Given the description of an element on the screen output the (x, y) to click on. 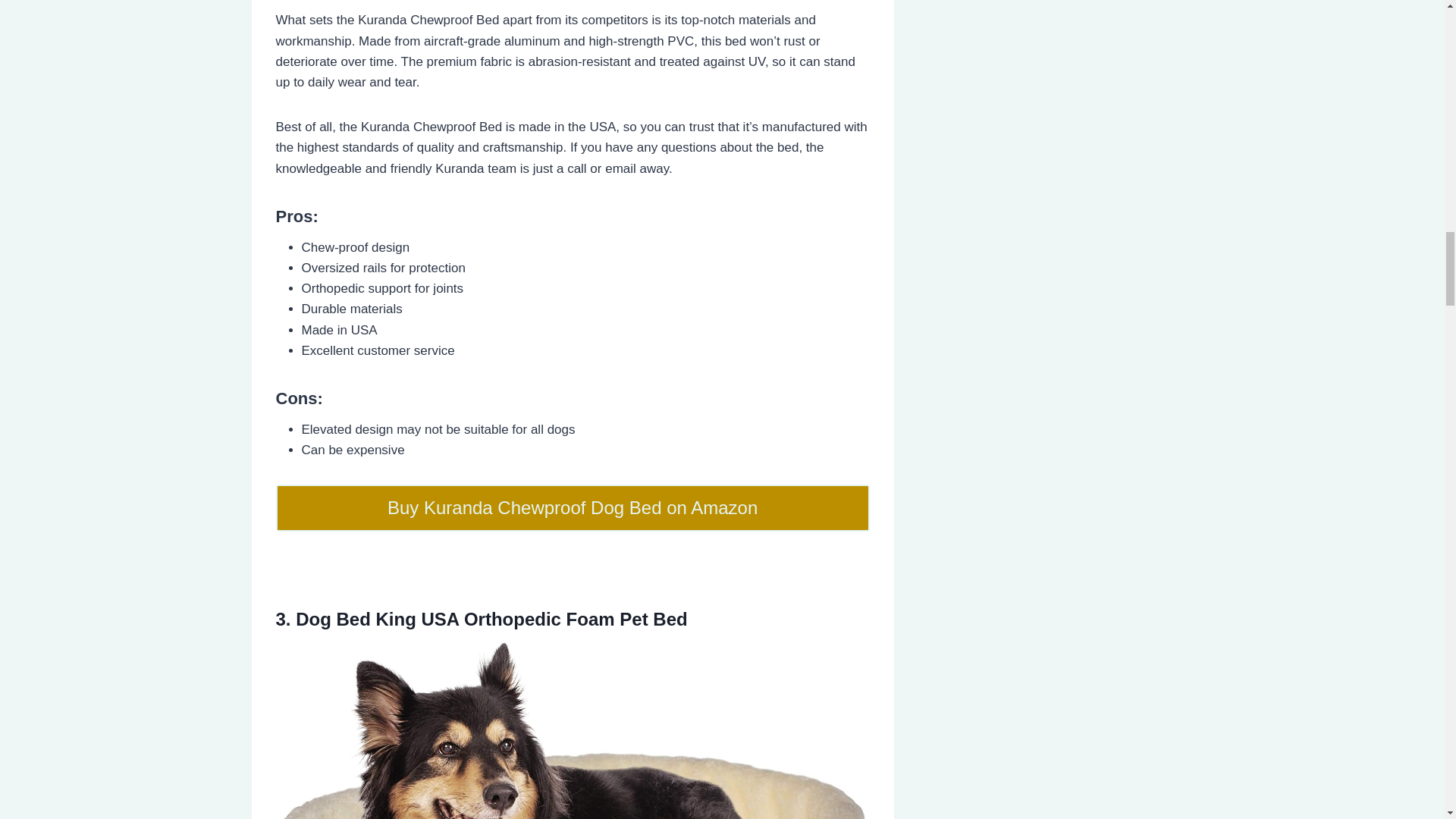
Buy Kuranda Chewproof Dog Bed on Amazon (572, 507)
